Given the description of an element on the screen output the (x, y) to click on. 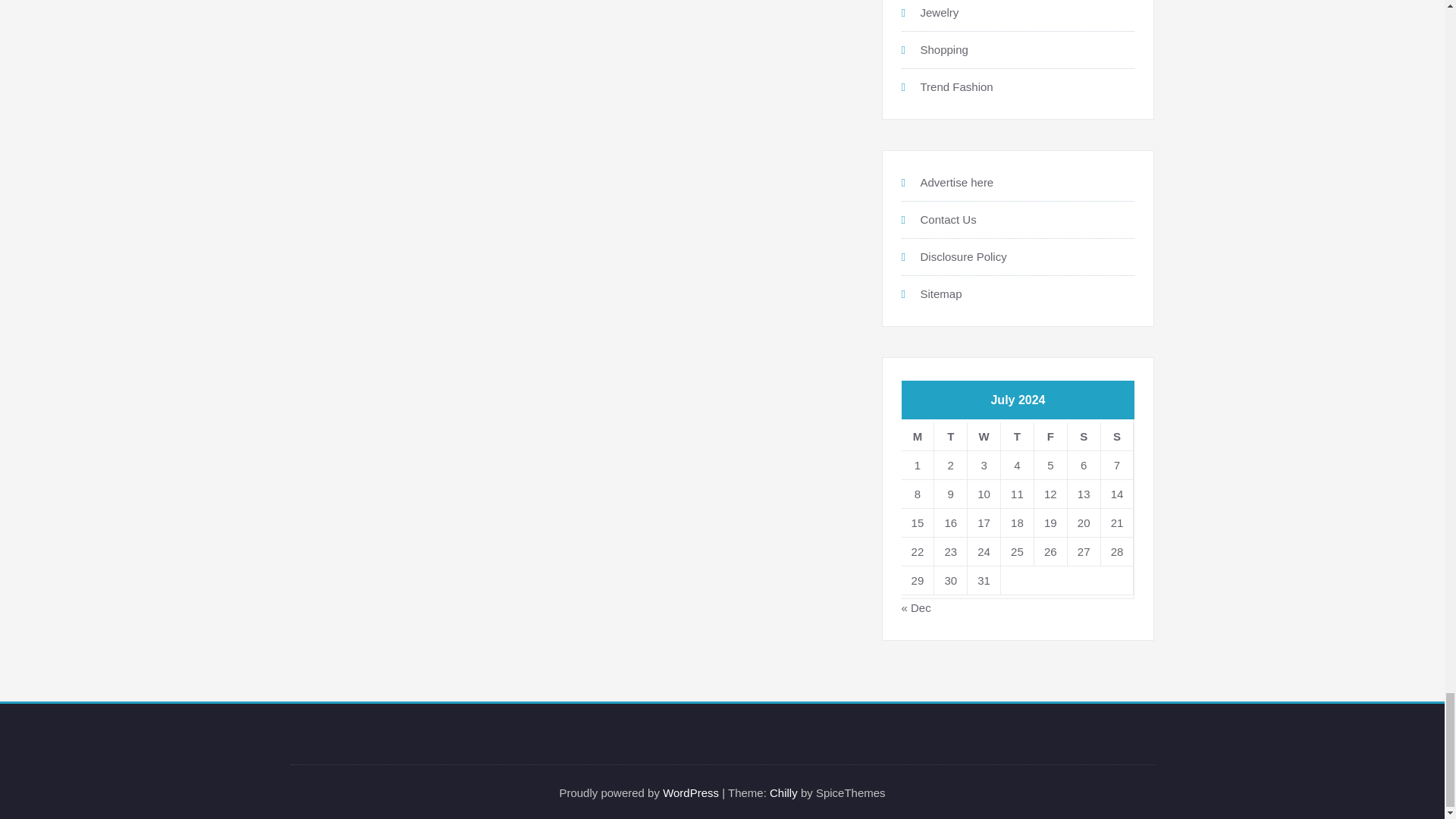
Thursday (1017, 436)
Tuesday (951, 436)
Wednesday (984, 436)
Saturday (1083, 436)
Monday (917, 436)
Friday (1050, 436)
Sunday (1117, 436)
